Given the description of an element on the screen output the (x, y) to click on. 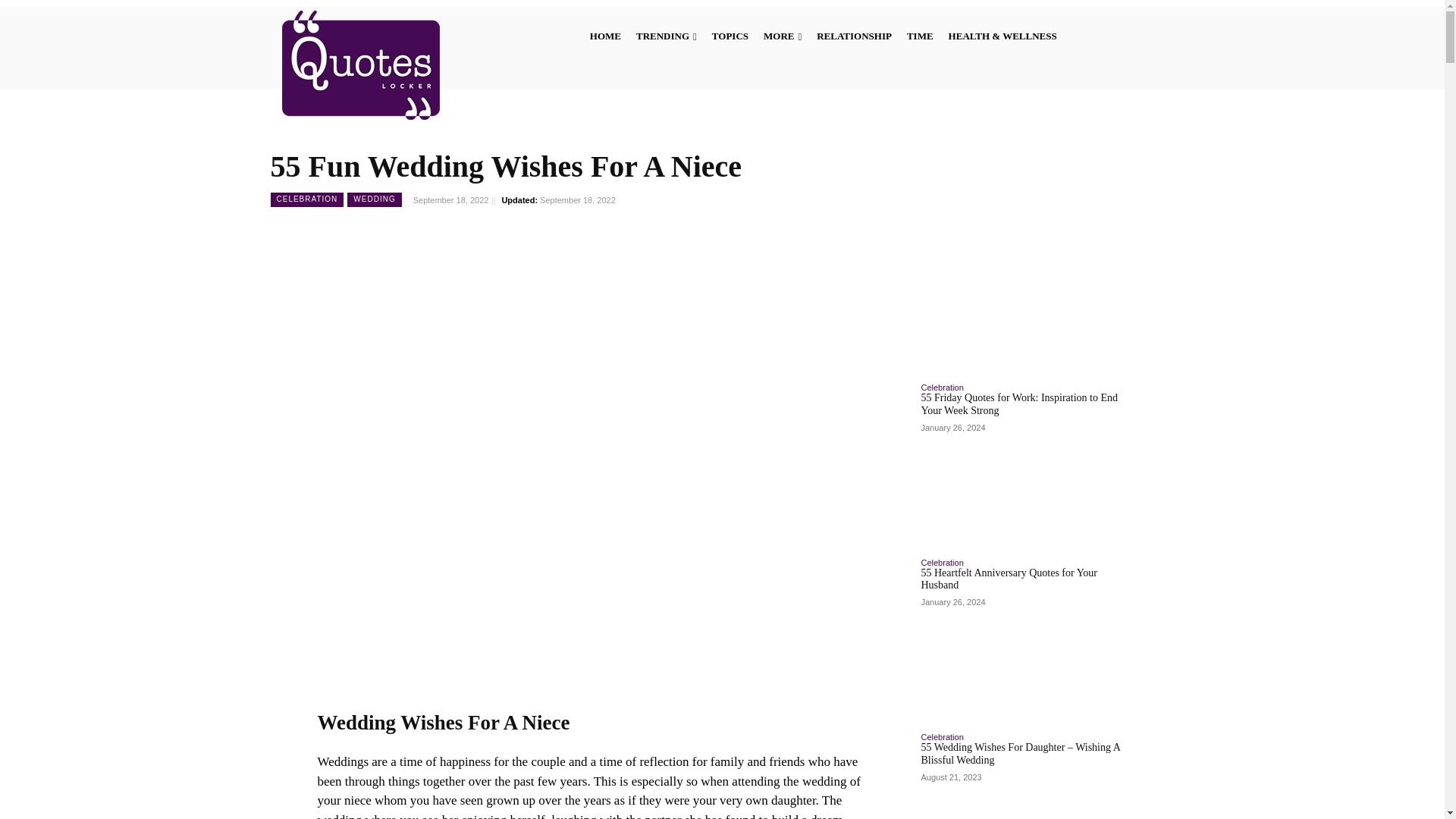
TRENDING (666, 35)
HOME (605, 35)
